Given the description of an element on the screen output the (x, y) to click on. 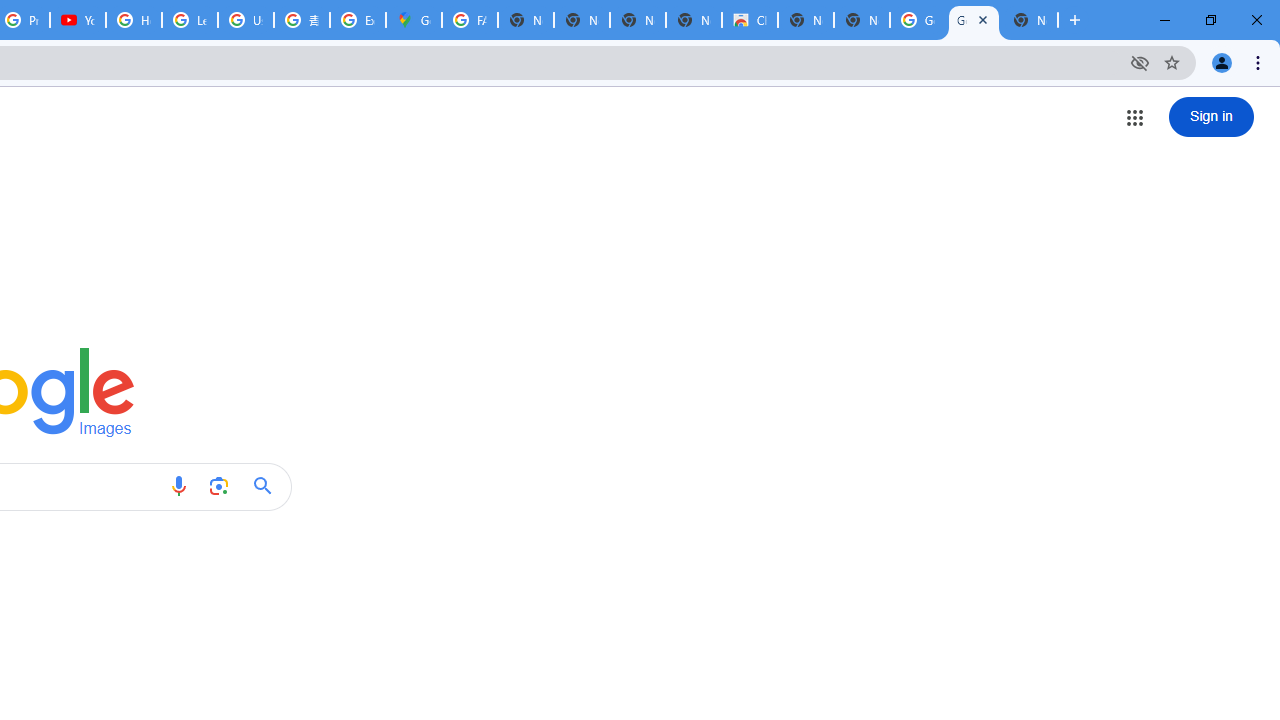
Chrome Web Store (749, 20)
How Chrome protects your passwords - Google Chrome Help (134, 20)
Third-party cookies blocked (1139, 62)
Search by voice (178, 485)
Google Search (268, 485)
New Tab (861, 20)
Sign in (1211, 116)
